Given the description of an element on the screen output the (x, y) to click on. 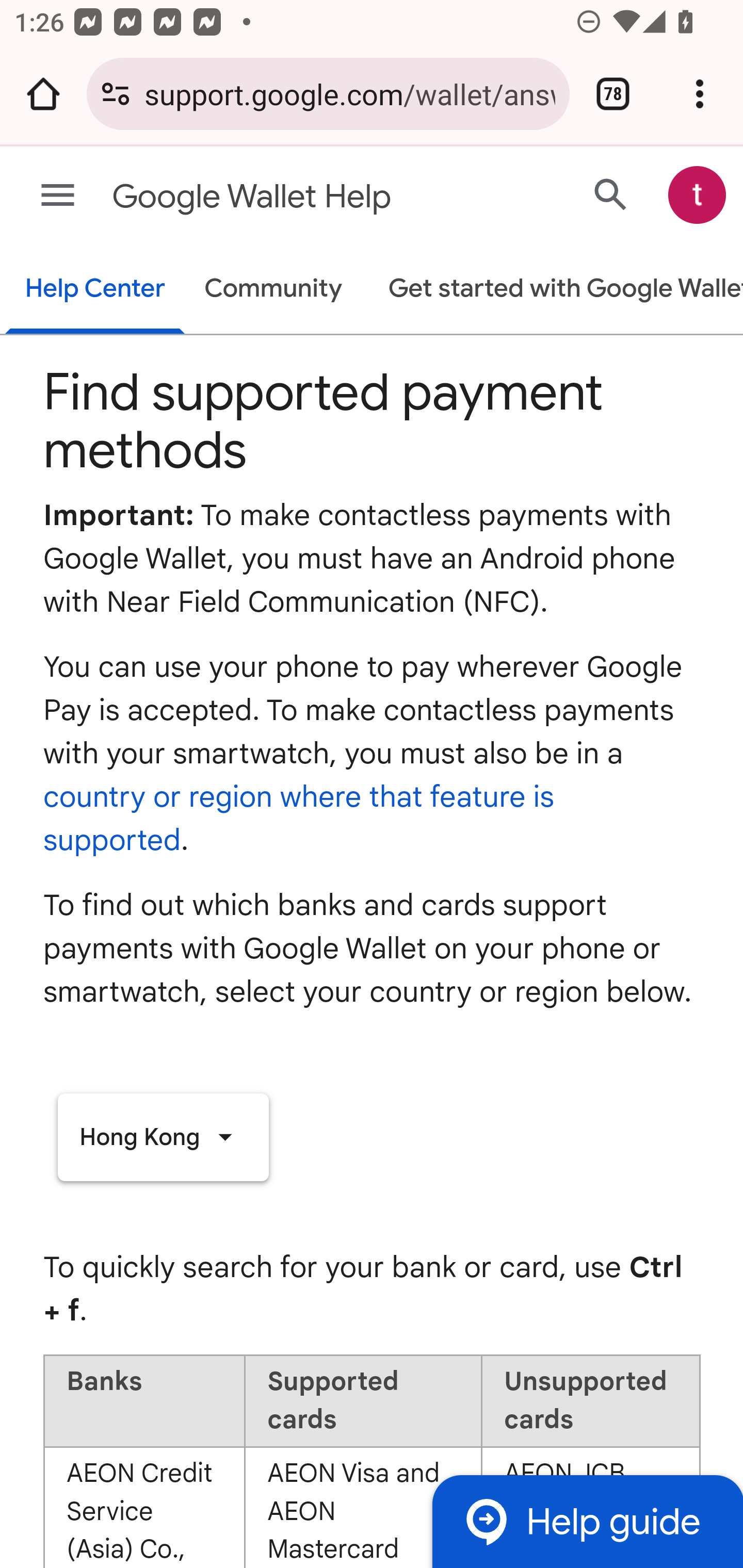
Open the home page (43, 93)
Connection is secure (115, 93)
Switch or close tabs (612, 93)
Customize and control Google Chrome (699, 93)
Main menu (58, 195)
Google Wallet Help (292, 197)
Search Help Center (611, 194)
Help Center (94, 289)
Community (273, 289)
Get started with Google Wallet (555, 289)
country or region where that feature is supported (299, 818)
Hong Kong (162, 1136)
Help guide (587, 1520)
